Given the description of an element on the screen output the (x, y) to click on. 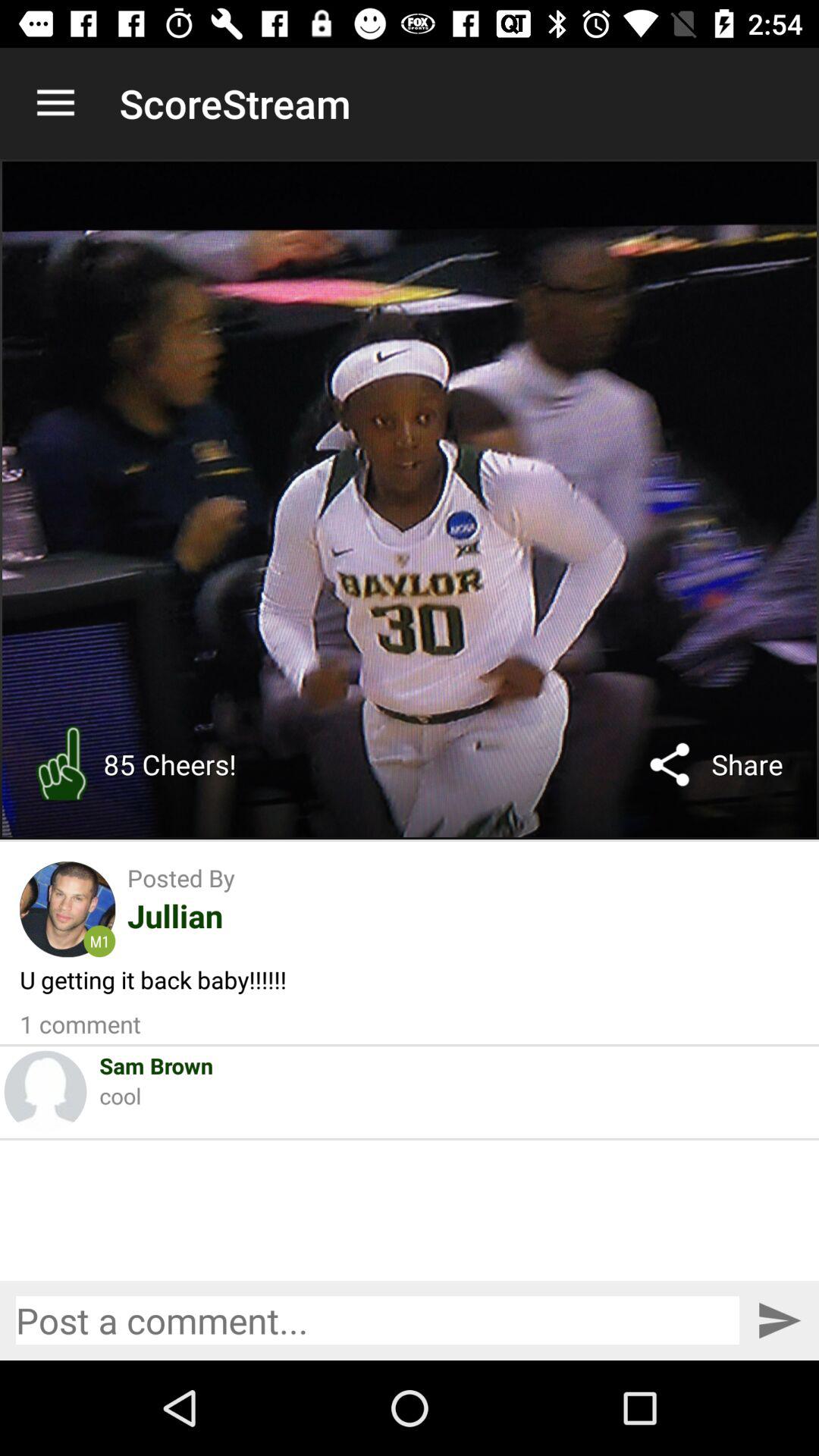
post a comment (377, 1320)
